Given the description of an element on the screen output the (x, y) to click on. 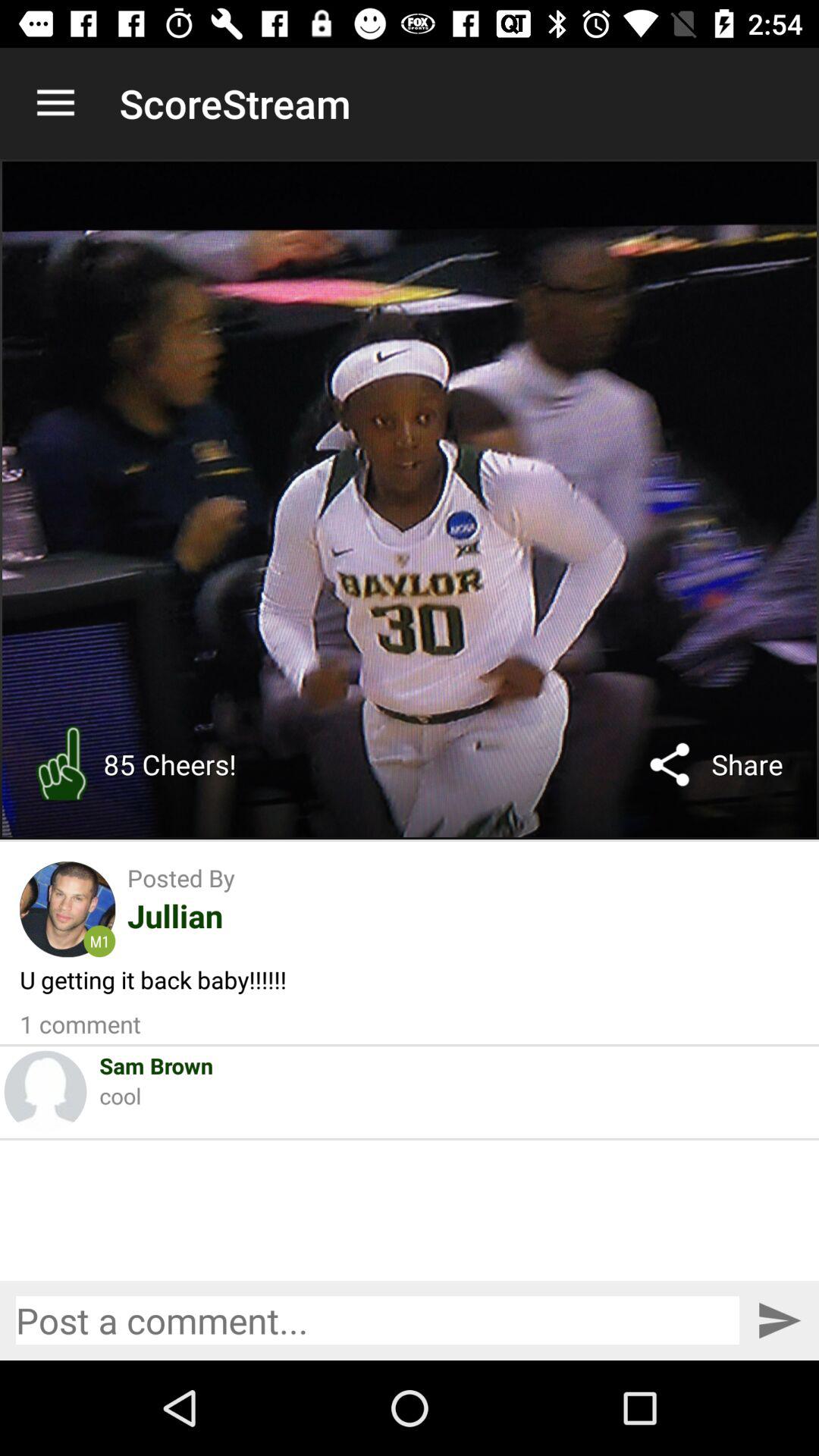
post a comment (377, 1320)
